Given the description of an element on the screen output the (x, y) to click on. 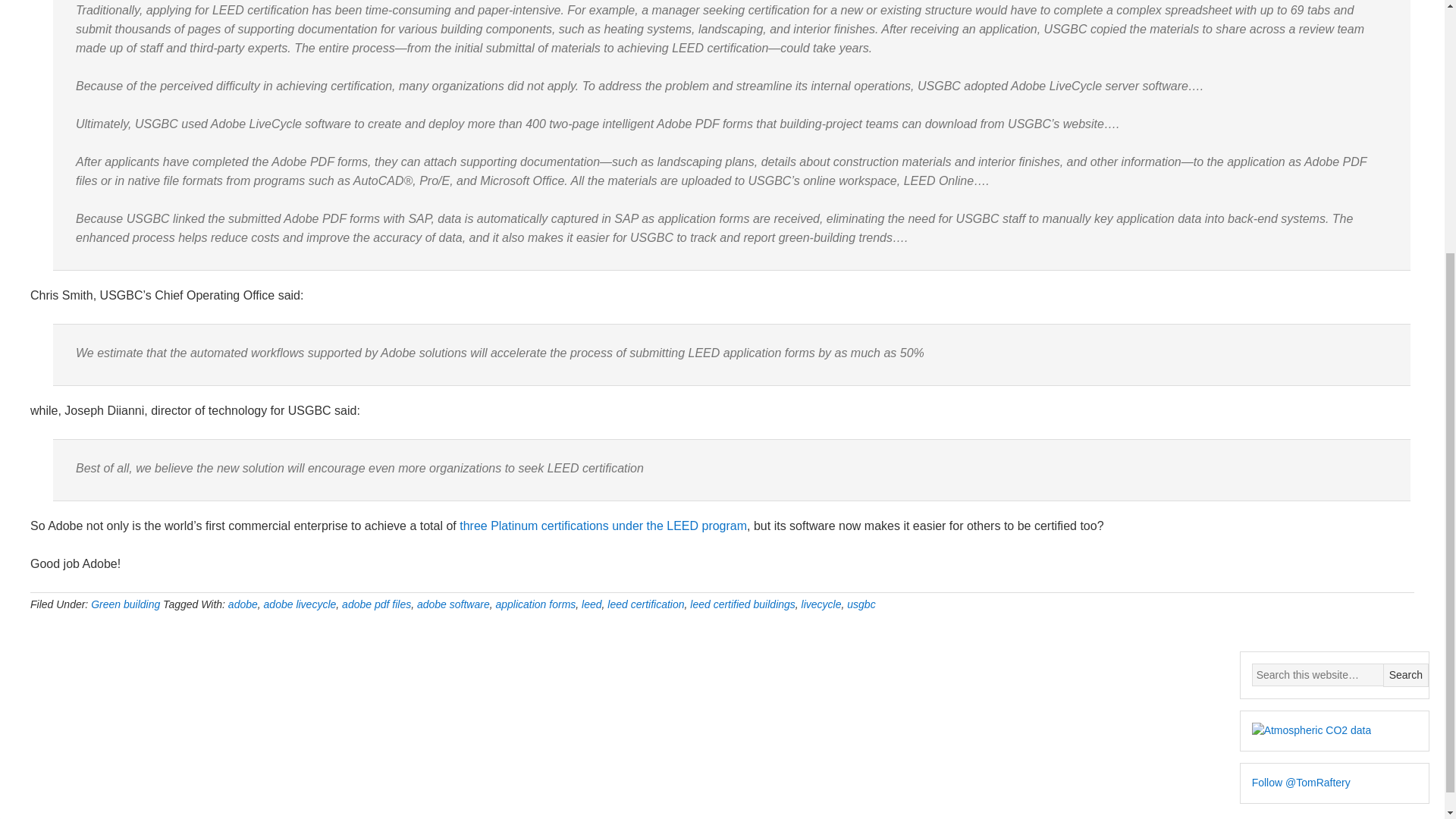
Earth's latest data for atmospheric CO2 (1311, 730)
Search (1405, 675)
three Platinum certifications under the LEED program (603, 525)
